Given the description of an element on the screen output the (x, y) to click on. 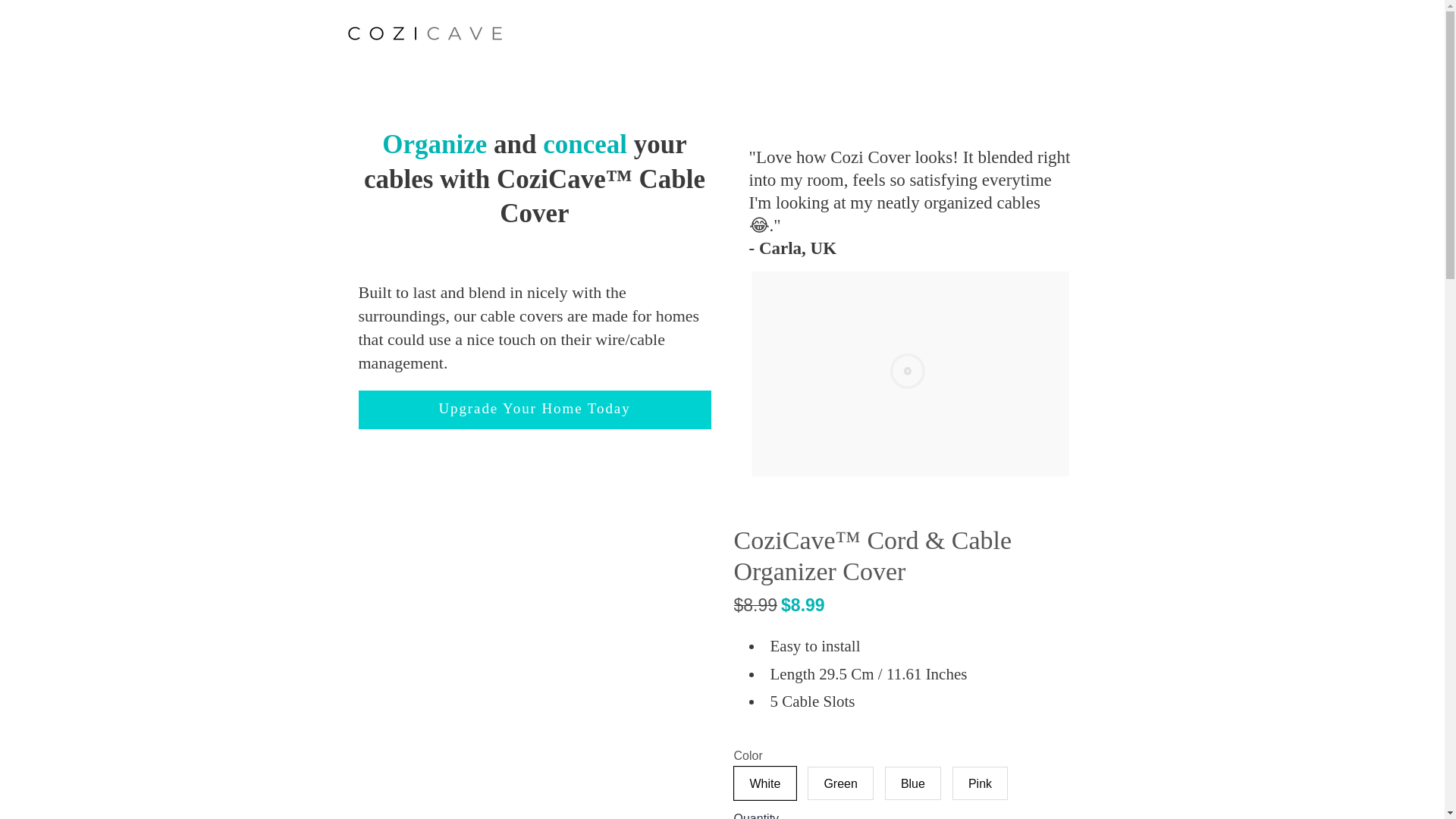
Upgrade Your Home Today (534, 409)
